Given the description of an element on the screen output the (x, y) to click on. 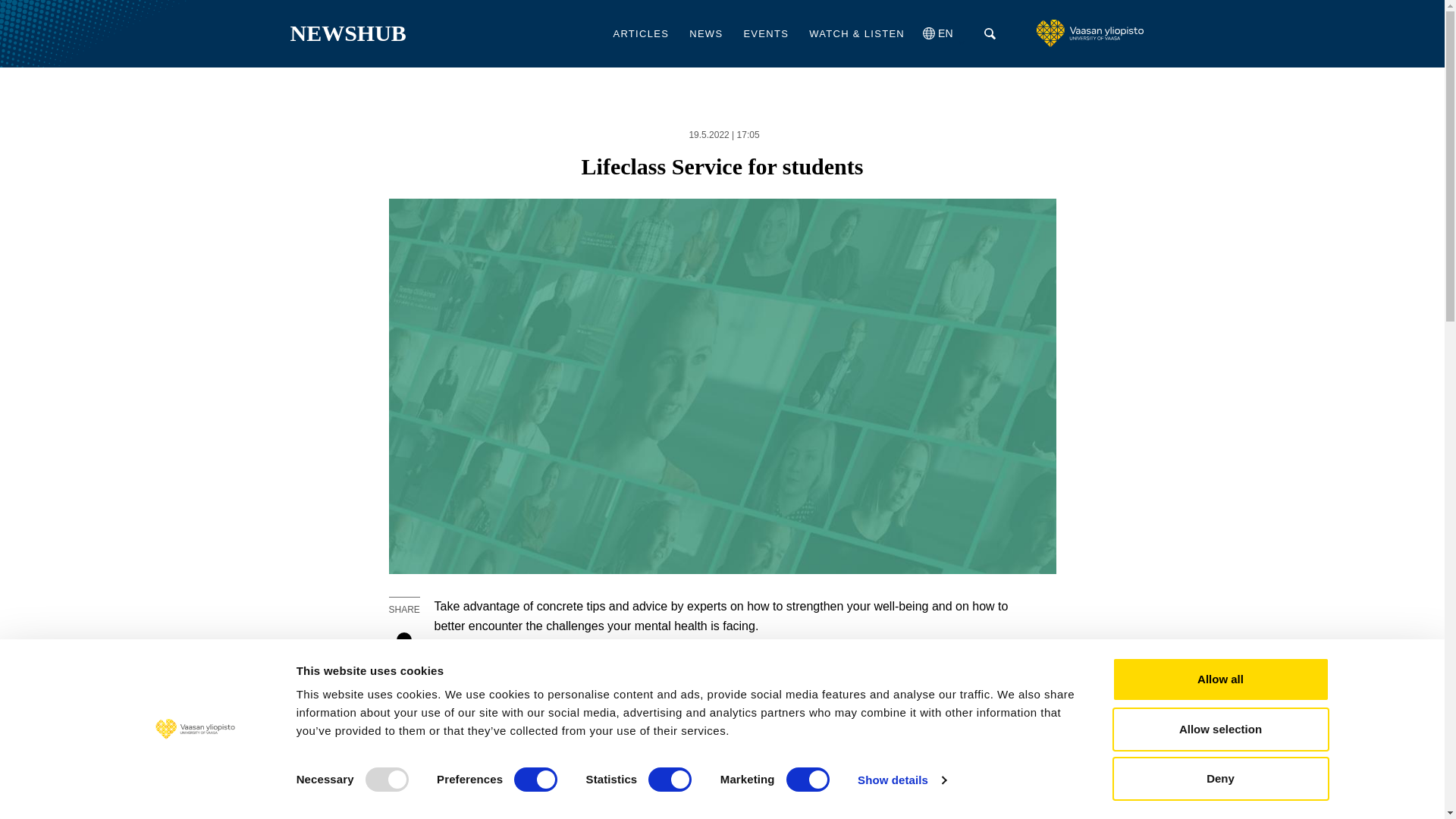
Show details (900, 780)
